Given the description of an element on the screen output the (x, y) to click on. 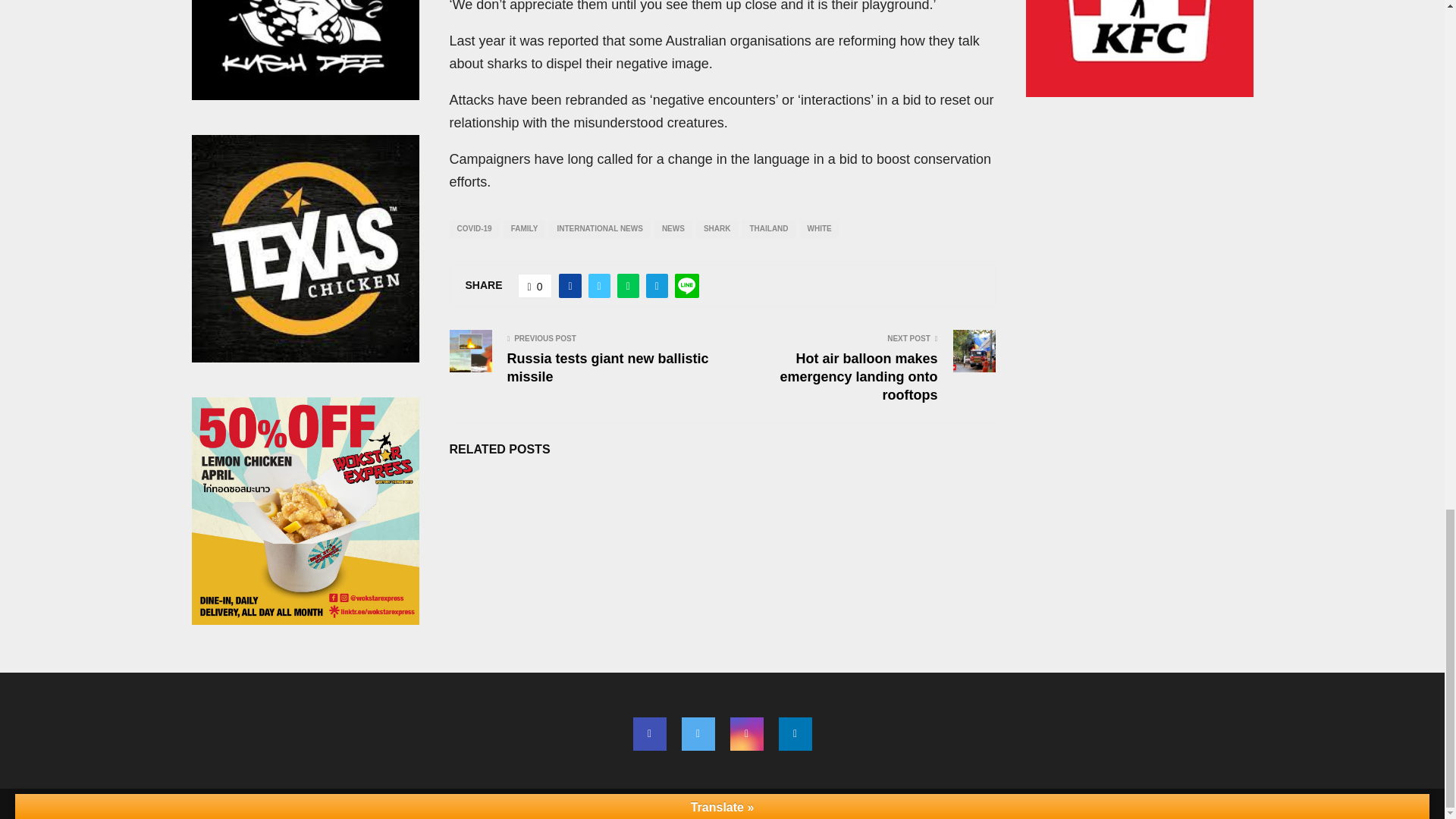
Instagram (745, 734)
Linkedin (793, 734)
Like (535, 285)
Twitter (697, 734)
Facebook (648, 734)
